Given the description of an element on the screen output the (x, y) to click on. 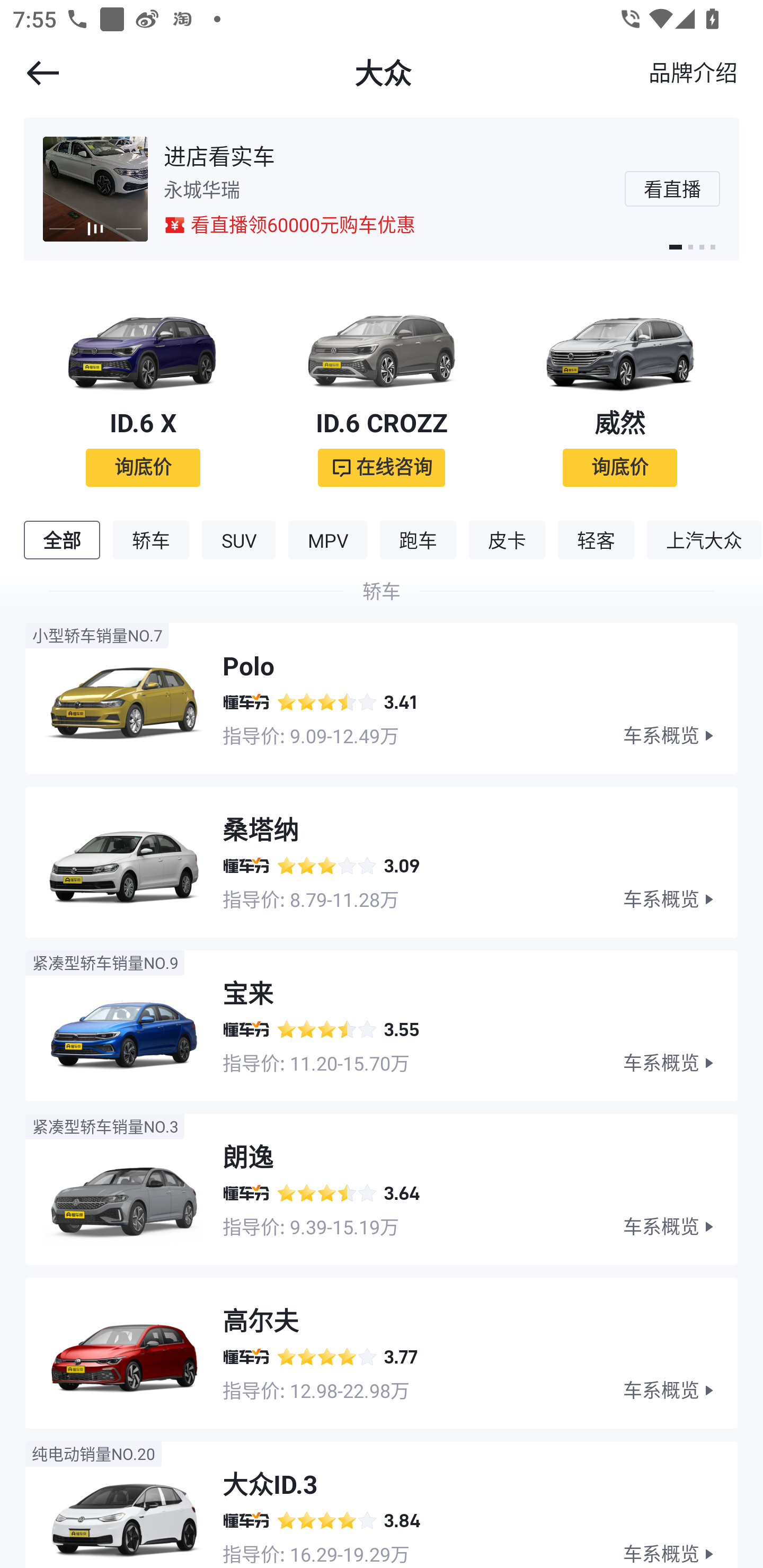
 (30, 72)
品牌介绍 (692, 71)
进店看实车 永城华瑞 看直播领60000元购车优惠 看直播 (381, 188)
ID.6 X 询底价 (142, 390)
ID.6 CROZZ 在线咨询 (381, 390)
威然 询底价 (619, 390)
询底价 (142, 467)
在线咨询 (394, 467)
询底价 (619, 467)
全部 (61, 539)
轿车 (150, 539)
SUV (238, 539)
MPV (327, 539)
跑车 (417, 539)
皮卡 (507, 539)
轻客 (595, 539)
上汽大众 (704, 539)
小型轿车销量NO.7 Polo 3.41 指导价: 9.09-12.49万 车系概览 (381, 691)
小型轿车销量NO.7 (96, 635)
车系概览 (680, 735)
桑塔纳 3.09 指导价: 8.79-11.28万 车系概览 (381, 855)
车系概览 (680, 899)
紧凑型轿车销量NO.9 宝来 3.55 指导价: 11.20-15.70万 车系概览 (381, 1018)
紧凑型轿车销量NO.9 (104, 962)
车系概览 (680, 1062)
紧凑型轿车销量NO.3 朗逸 3.64 指导价: 9.39-15.19万 车系概览 (381, 1182)
紧凑型轿车销量NO.3 (104, 1126)
车系概览 (680, 1226)
高尔夫 3.77 指导价: 12.98-22.98万 车系概览 (381, 1346)
车系概览 (680, 1390)
纯电动销量NO.20 大众ID.3 3.84 指导价: 16.29-19.29万 车系概览 (381, 1498)
纯电动销量NO.20 (93, 1453)
车系概览 (680, 1553)
